Given the description of an element on the screen output the (x, y) to click on. 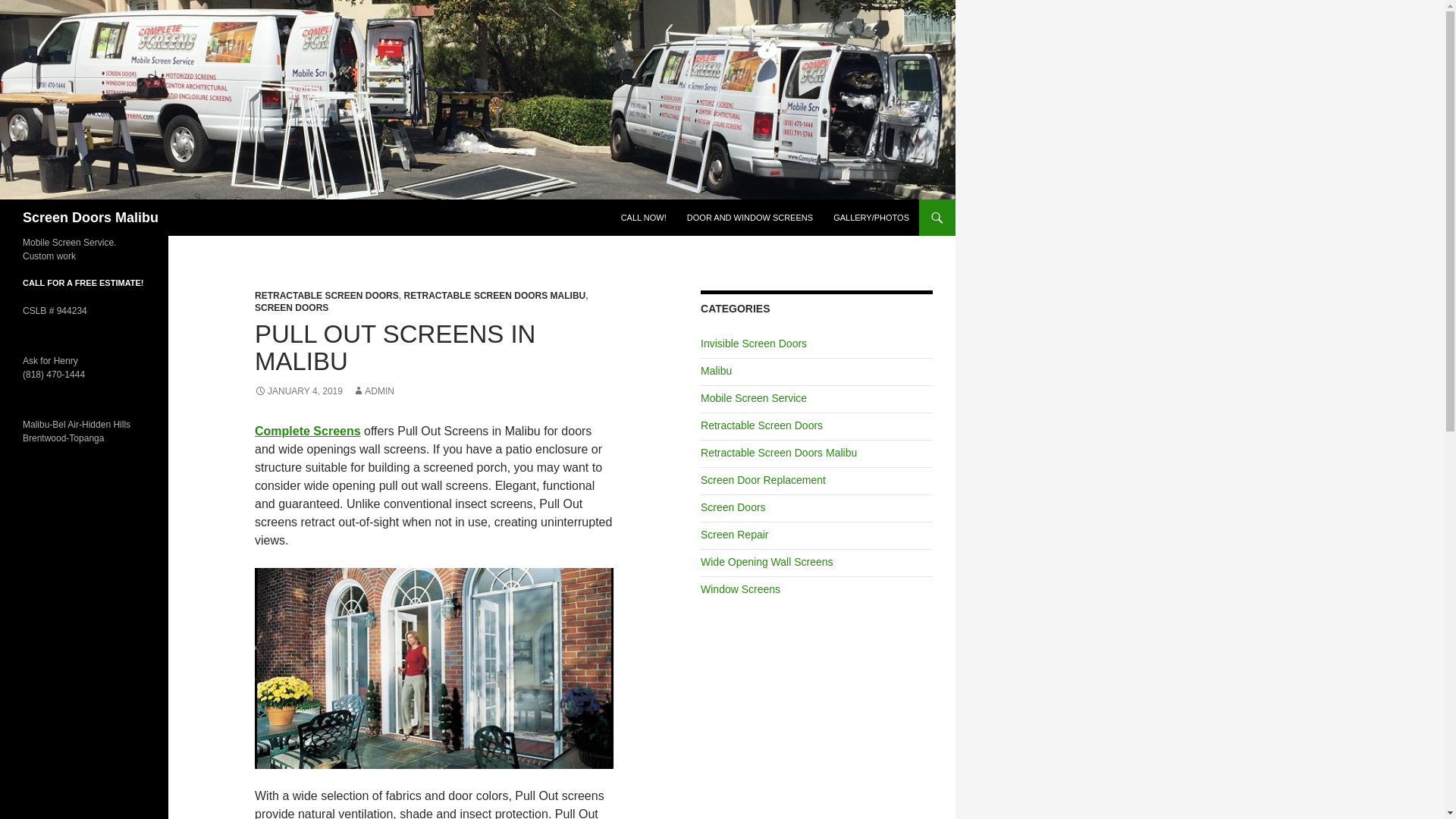
CALL NOW! (643, 217)
Screen Repair (734, 534)
JANUARY 4, 2019 (298, 390)
Complete Screens (307, 431)
ADMIN (373, 390)
DOOR AND WINDOW SCREENS (750, 217)
Retractable Screen Doors Malibu (778, 452)
Screen Doors (732, 507)
